Given the description of an element on the screen output the (x, y) to click on. 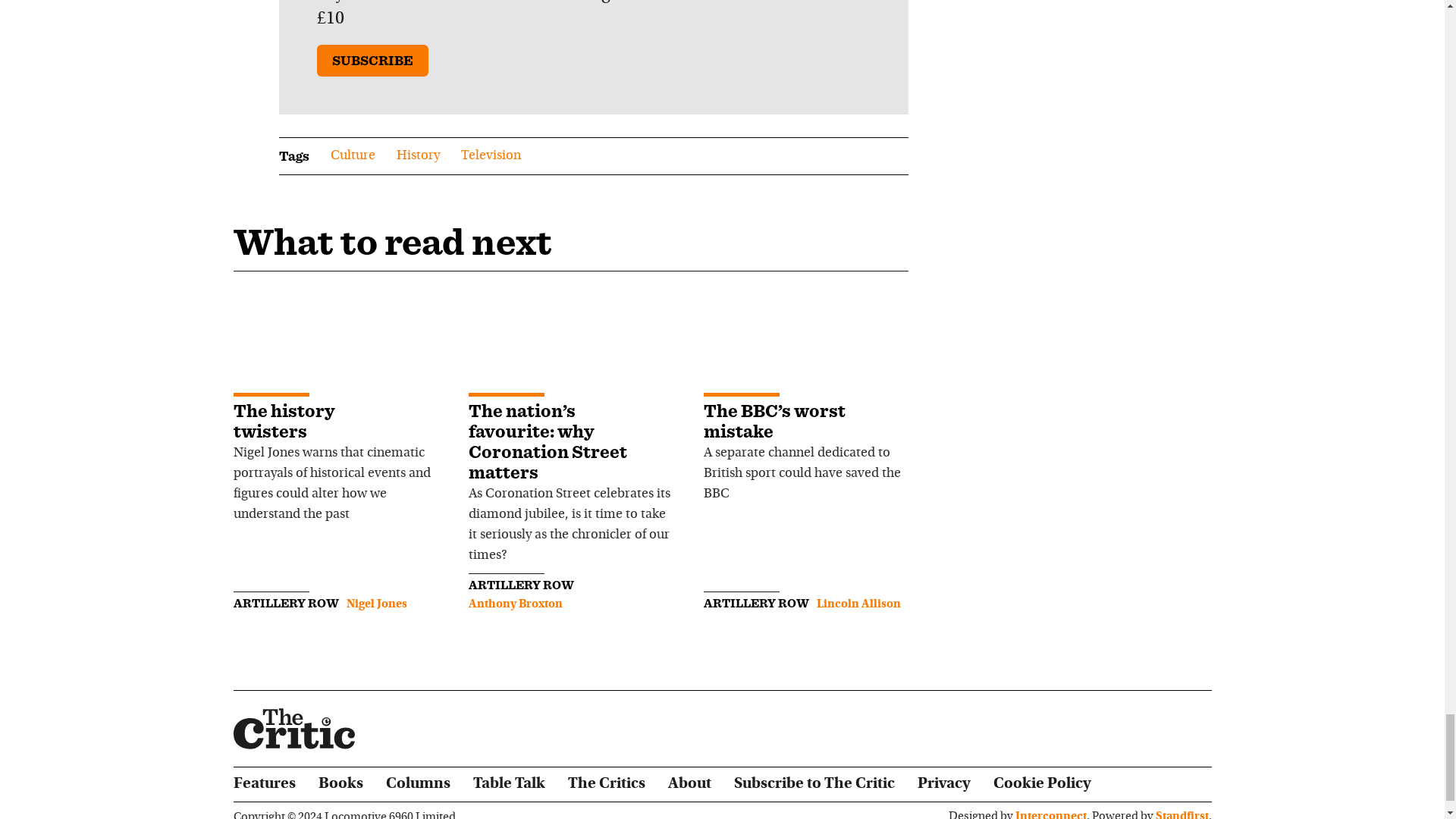
Nigel Jones (376, 604)
Television (491, 156)
Anthony Broxton (515, 604)
SUBSCRIBE (372, 60)
The history twisters (283, 420)
History (417, 156)
Culture (352, 156)
Posts by Anthony Broxton (515, 604)
Posts by Nigel Jones (376, 604)
Posts by Lincoln Allison (857, 604)
ARTILLERY ROW (285, 603)
ARTILLERY ROW (520, 585)
